Given the description of an element on the screen output the (x, y) to click on. 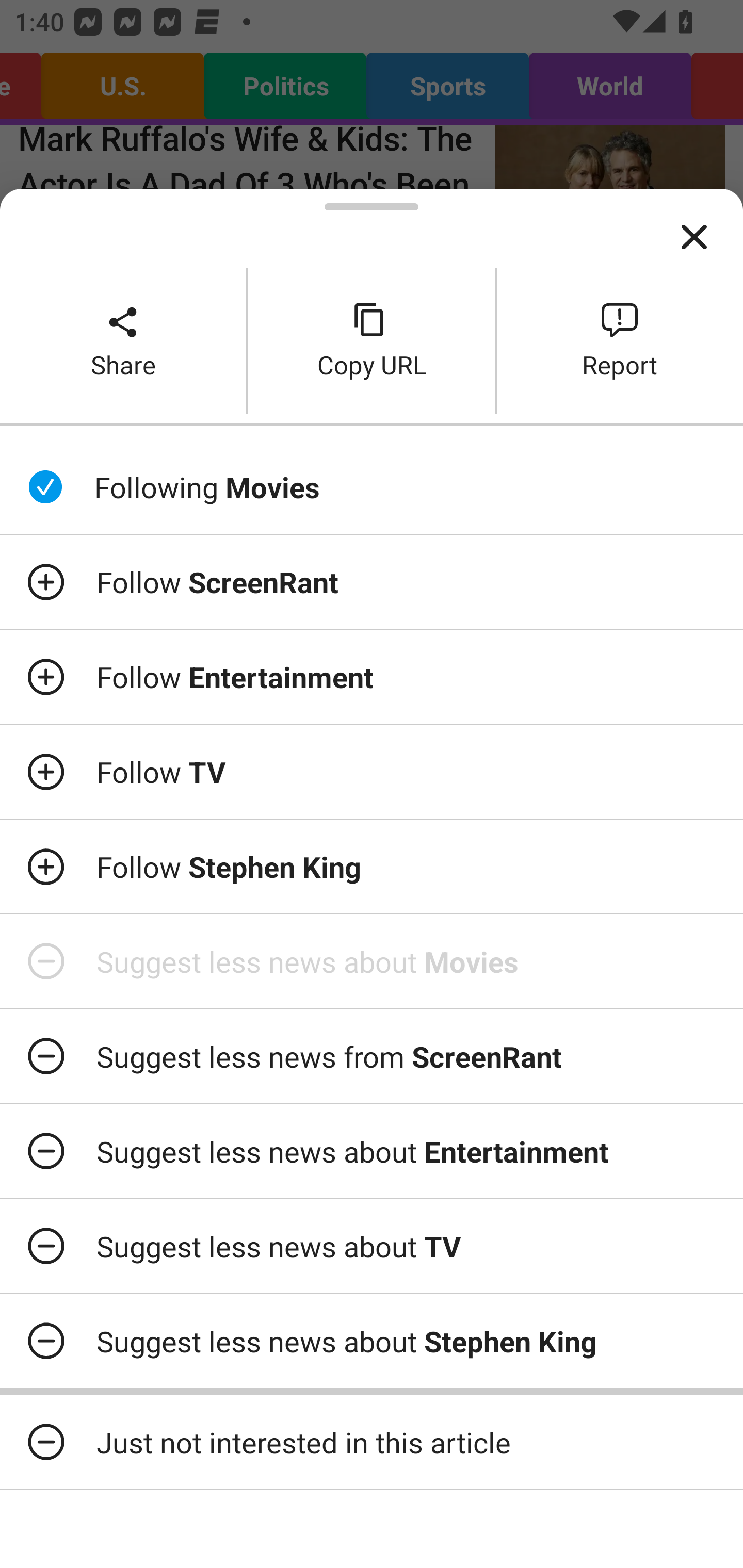
Close (694, 237)
Share (122, 340)
Copy URL (371, 340)
Report (620, 340)
Following Movies (371, 486)
Follow ScreenRant (371, 581)
Follow Entertainment (371, 677)
Follow TV (371, 771)
Follow Stephen King (371, 867)
Suggest less news about Movies (371, 961)
Suggest less news from ScreenRant (371, 1056)
Suggest less news about Entertainment (371, 1150)
Suggest less news about TV (371, 1246)
Suggest less news about Stephen King (371, 1340)
Just not interested in this article (371, 1442)
